Given the description of an element on the screen output the (x, y) to click on. 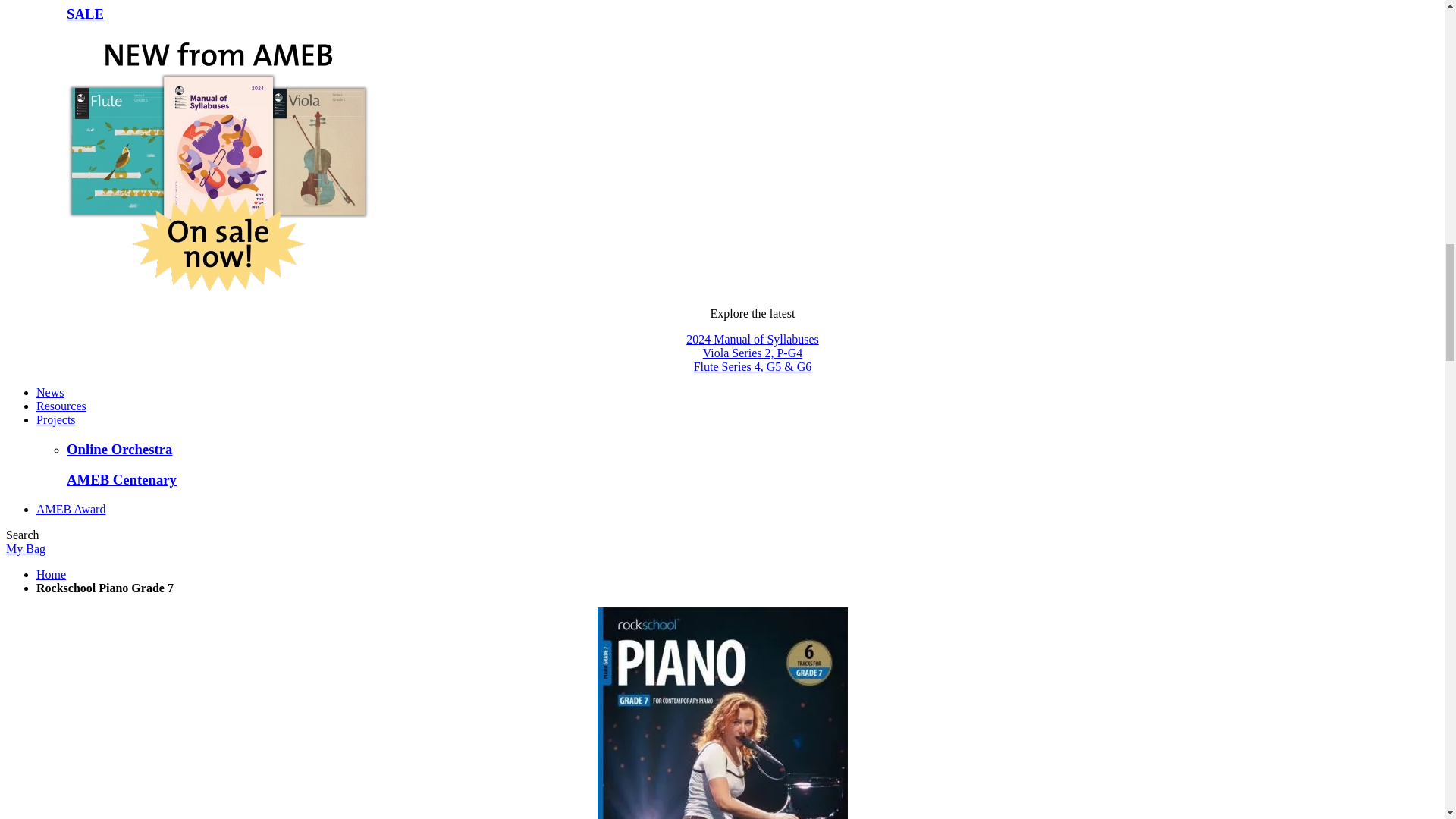
Go to Home Page (50, 574)
